Given the description of an element on the screen output the (x, y) to click on. 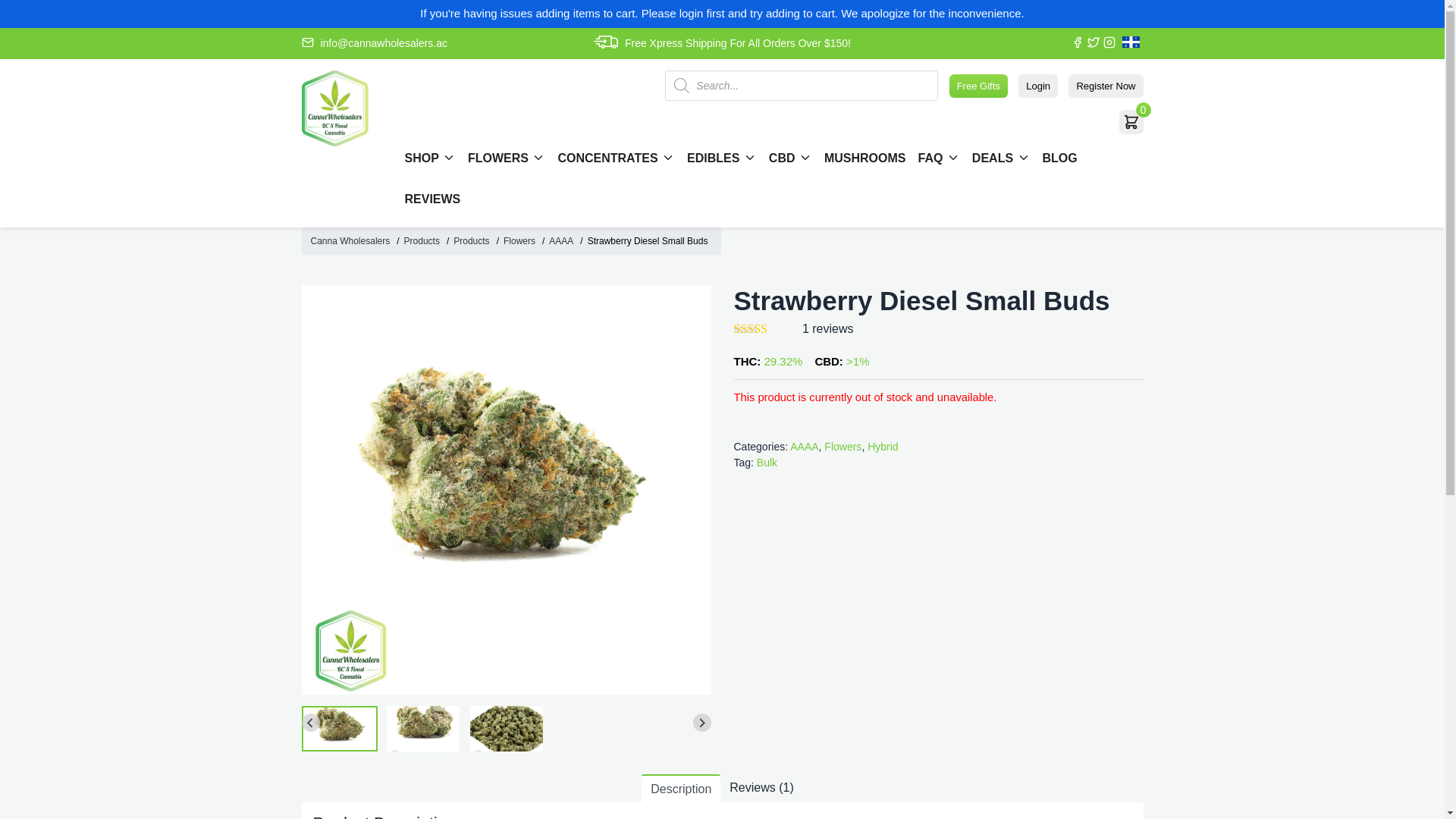
Go to Products. (423, 240)
FLOWERS (505, 156)
0 (1130, 120)
EDIBLES (722, 156)
Go to Canna Wholesalers. (352, 240)
Go to the Flowers Category archives. (520, 240)
Go to the AAAA Category archives. (561, 240)
Free Gifts (978, 86)
Login (1037, 86)
SHOP (430, 156)
CBD (790, 156)
CONCENTRATES (616, 156)
Register Now (1105, 86)
Rated 4.00 out of 5 (766, 328)
Go to Products. (472, 240)
